Given the description of an element on the screen output the (x, y) to click on. 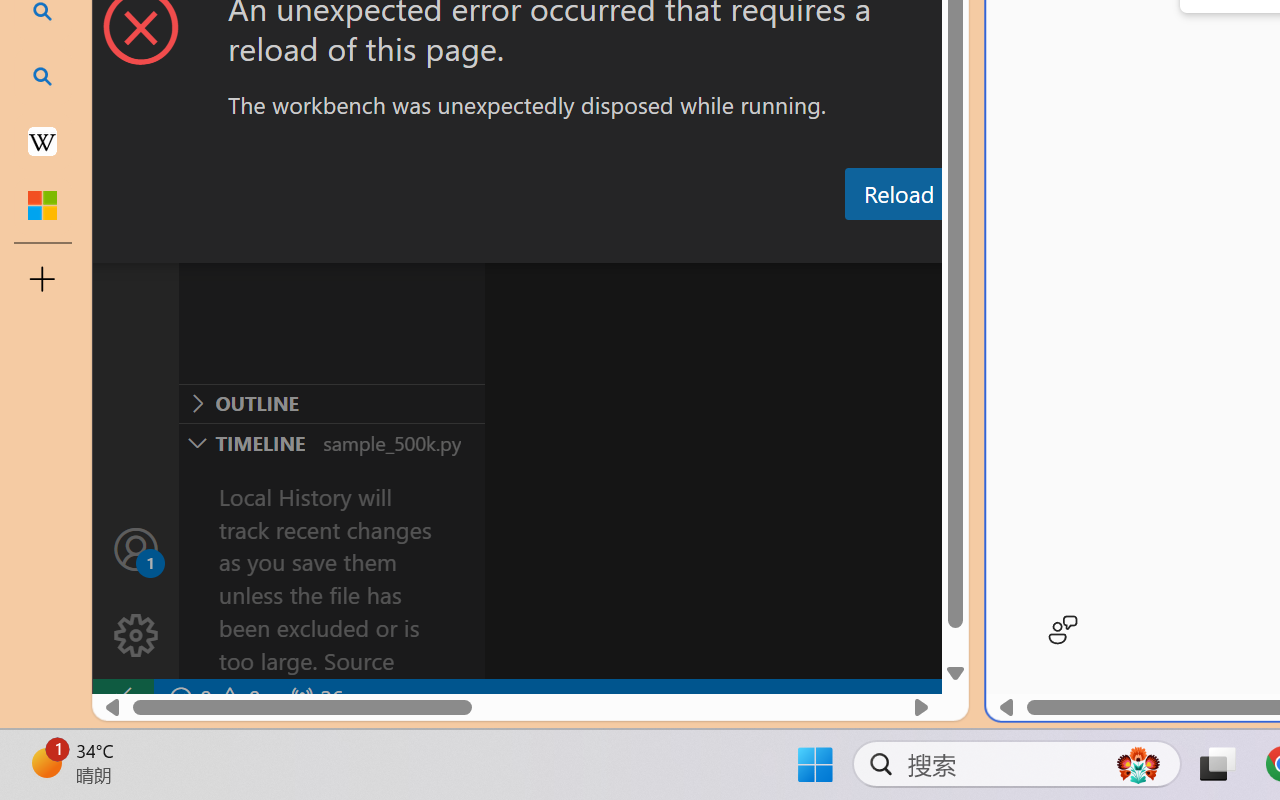
Timeline Section (331, 442)
Accounts - Sign in requested (135, 548)
remote (122, 698)
Output (Ctrl+Shift+U) (696, 243)
Terminal (Ctrl+`) (1021, 243)
No Problems (212, 698)
Earth - Wikipedia (42, 140)
